Given the description of an element on the screen output the (x, y) to click on. 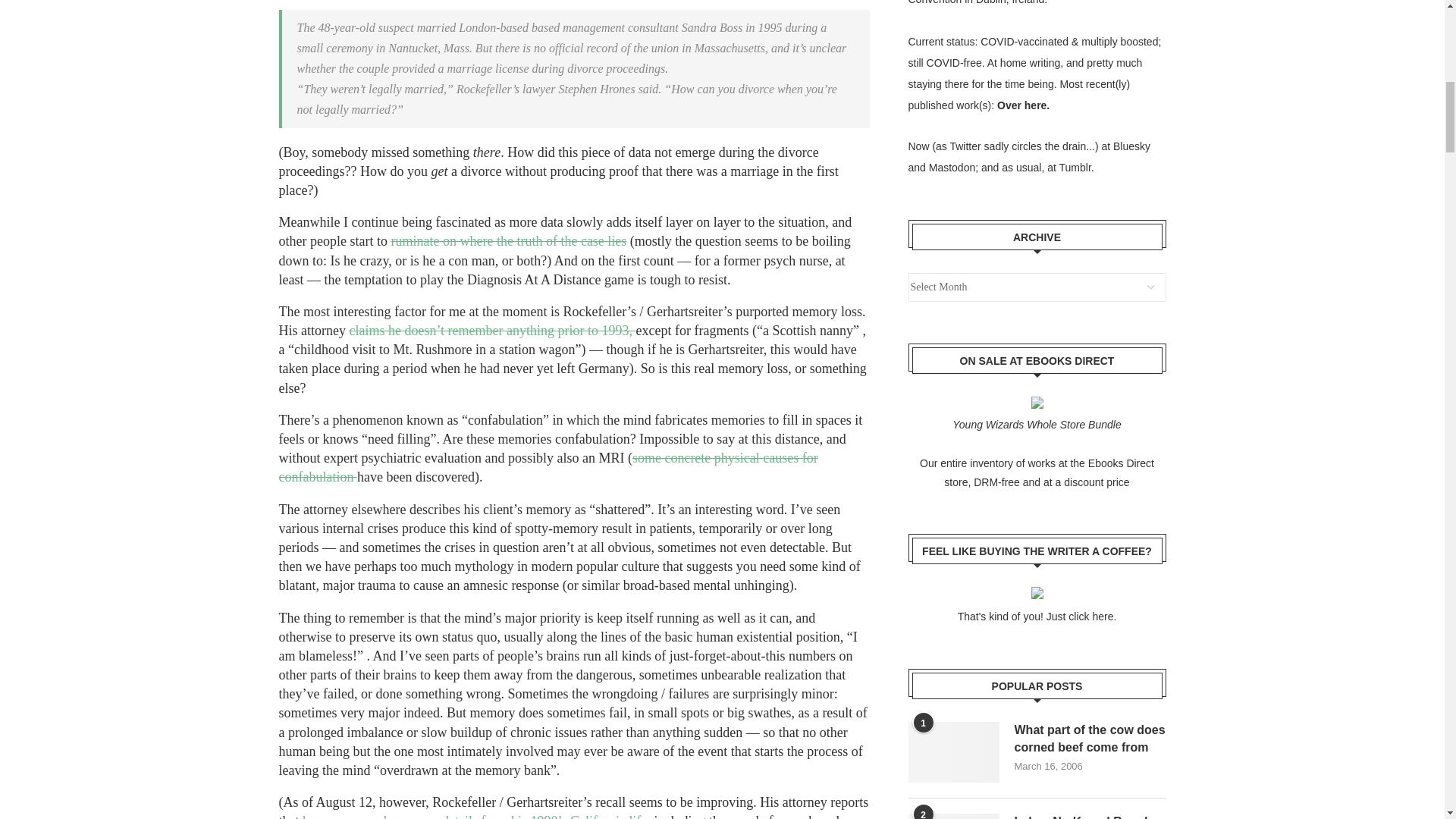
What part of the cow does corned beef come from (953, 751)
What part of the cow does corned beef come from (1090, 738)
